Given the description of an element on the screen output the (x, y) to click on. 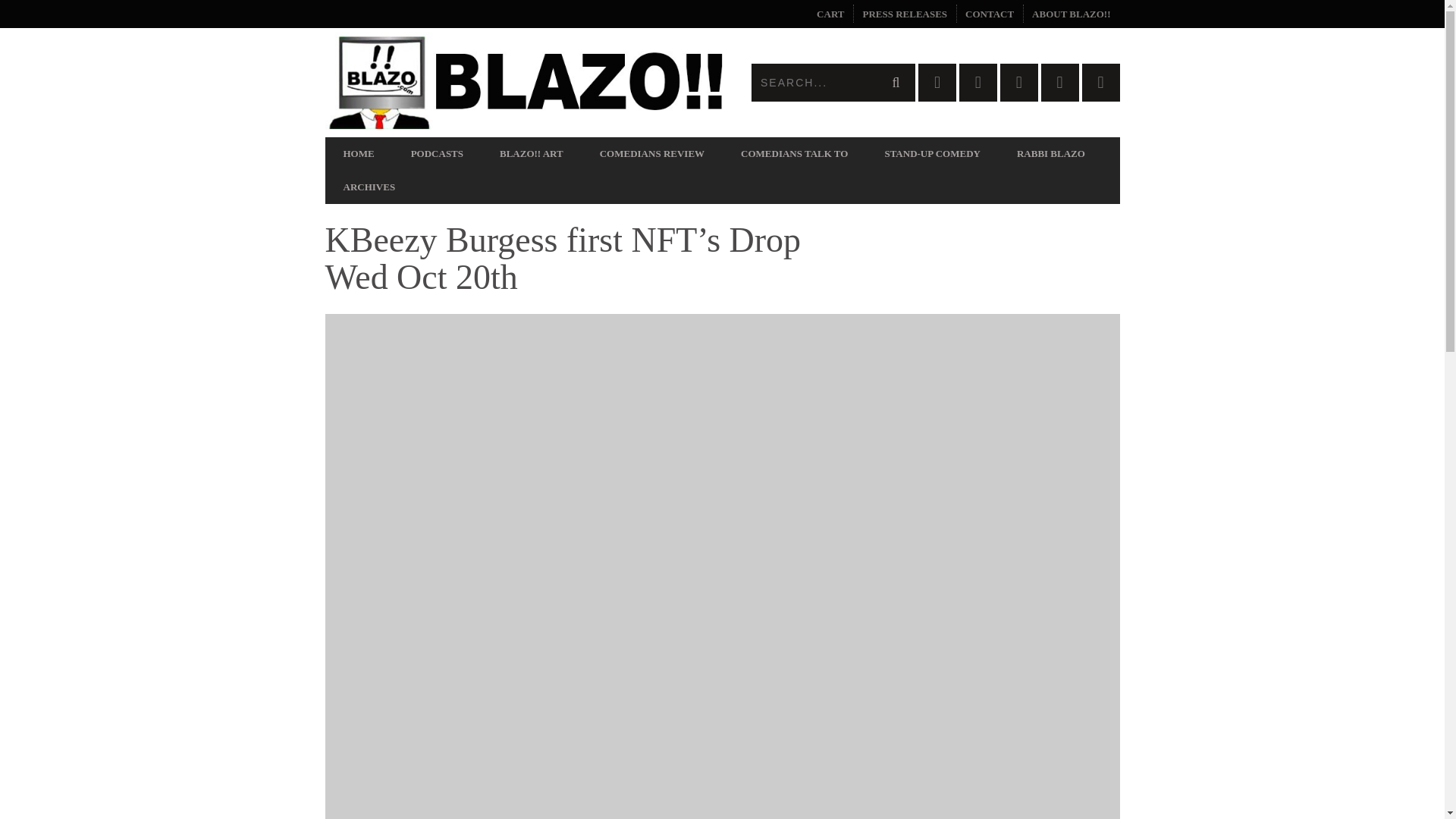
ABOUT BLAZO!! (1071, 13)
BLAZO!! (523, 81)
HOME (357, 153)
CONTACT (989, 13)
CART (830, 13)
PRESS RELEASES (904, 13)
